Given the description of an element on the screen output the (x, y) to click on. 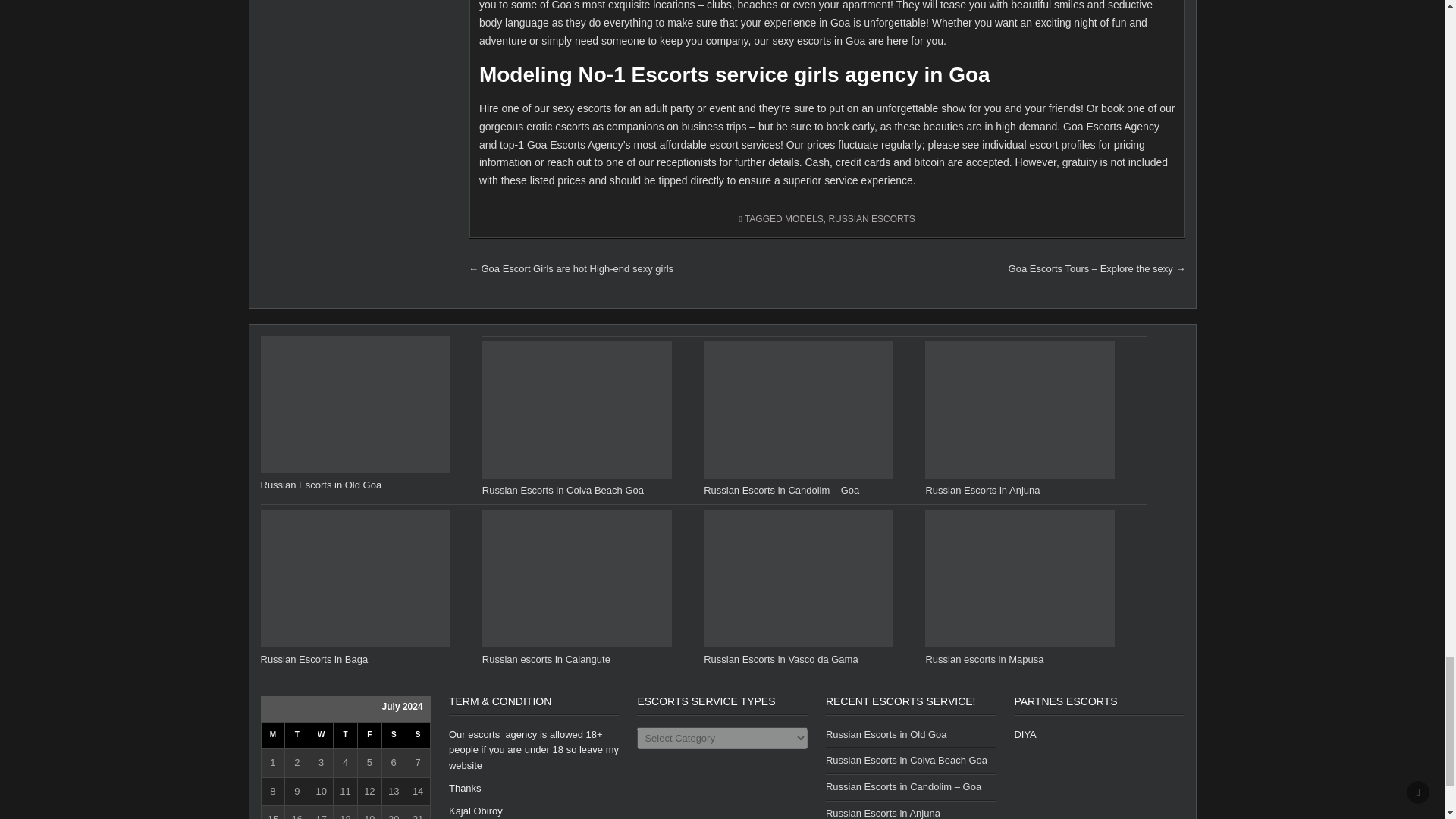
Russian Escorts in Baga 11 (354, 578)
Russian Escorts in Candolim - Goa 9 (798, 409)
Russian Escorts in Anjuna 10 (1019, 409)
RUSSIAN ESCORTS (871, 218)
MODELS (804, 218)
Russian Escorts in Colva Beach Goa 8 (576, 409)
Russian Escorts in Old Goa 7 (354, 404)
Russian escorts in Calangute 12 (576, 578)
